Given the description of an element on the screen output the (x, y) to click on. 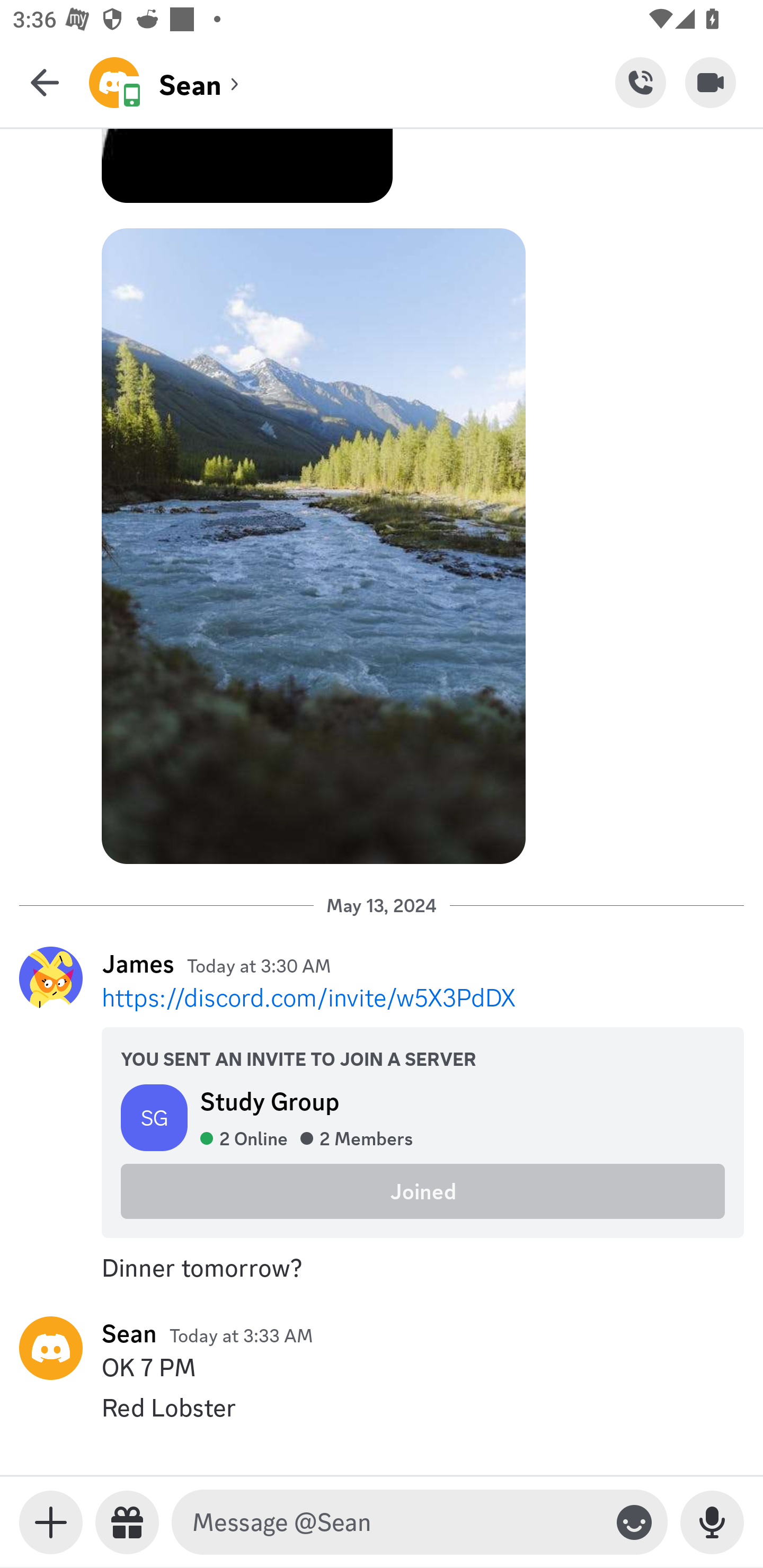
Sean (channel) Sean Sean (channel) (351, 82)
Back (44, 82)
Start Voice Call (640, 82)
Start Video Call (710, 82)
James (137, 963)
Joined (422, 1190)
ssseannn007., Dinner tomorrow? Dinner tomorrow? (381, 1267)
Sean (129, 1333)
yuxiang.007, Red Lobster Red Lobster (381, 1406)
Toggle media keyboard (50, 1522)
Send a gift (126, 1522)
Record Voice Message (711, 1522)
Message @Sean (395, 1522)
Toggle emoji keyboard (634, 1522)
